Given the description of an element on the screen output the (x, y) to click on. 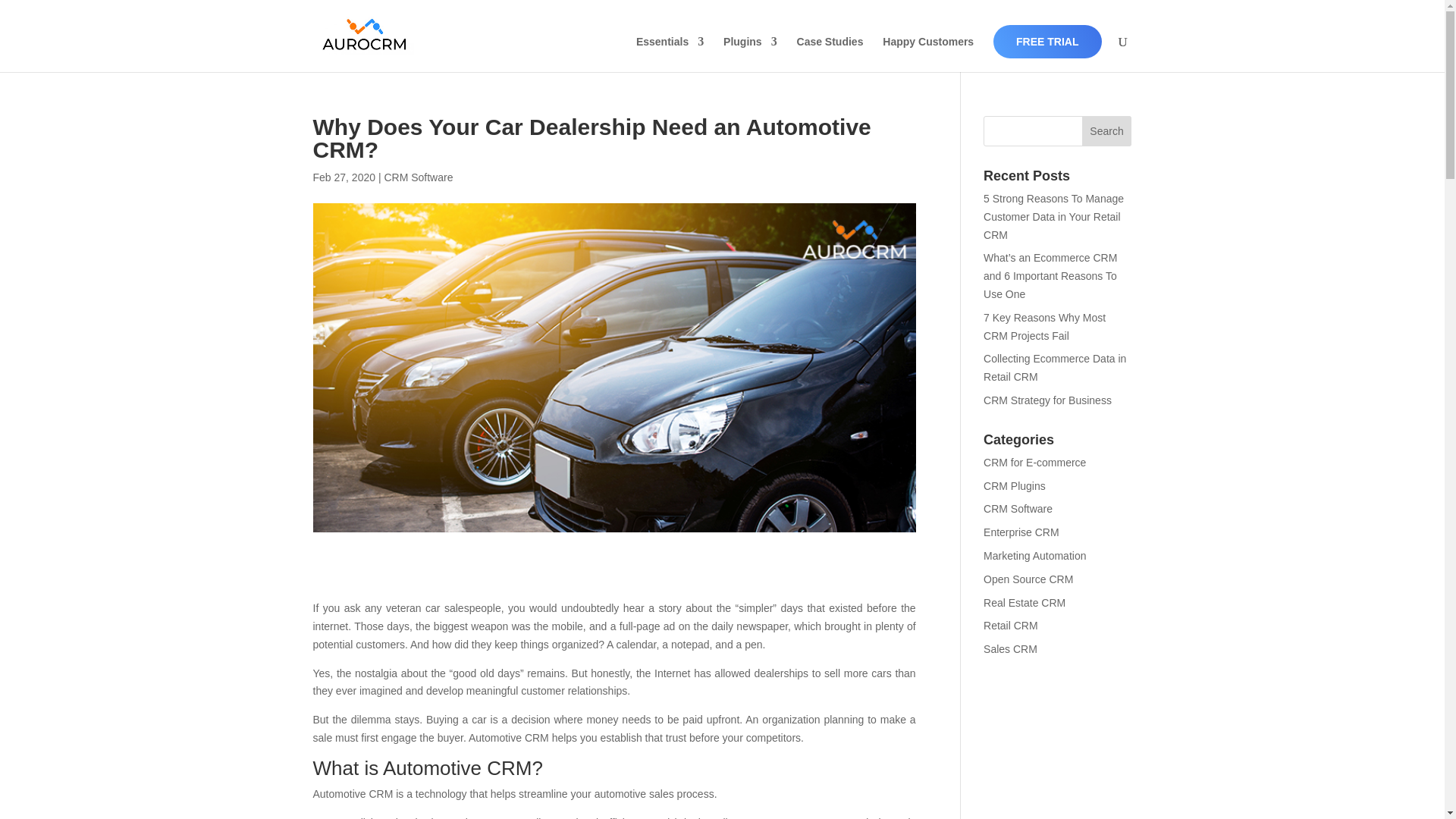
CRM Strategy for Business (1048, 399)
CRM Software (1018, 508)
Search (1106, 131)
Case Studies (829, 54)
CRM Plugins (1014, 485)
Plugins (750, 54)
FREE TRIAL (1046, 41)
7 Key Reasons Why Most CRM Projects Fail (1044, 327)
Search (1106, 131)
5 Strong Reasons To Manage Customer Data in Your Retail CRM (1054, 216)
CRM for E-commerce (1035, 462)
Collecting Ecommerce Data in Retail CRM (1054, 367)
Essentials (669, 54)
CRM Software (418, 177)
Enterprise CRM (1021, 532)
